Given the description of an element on the screen output the (x, y) to click on. 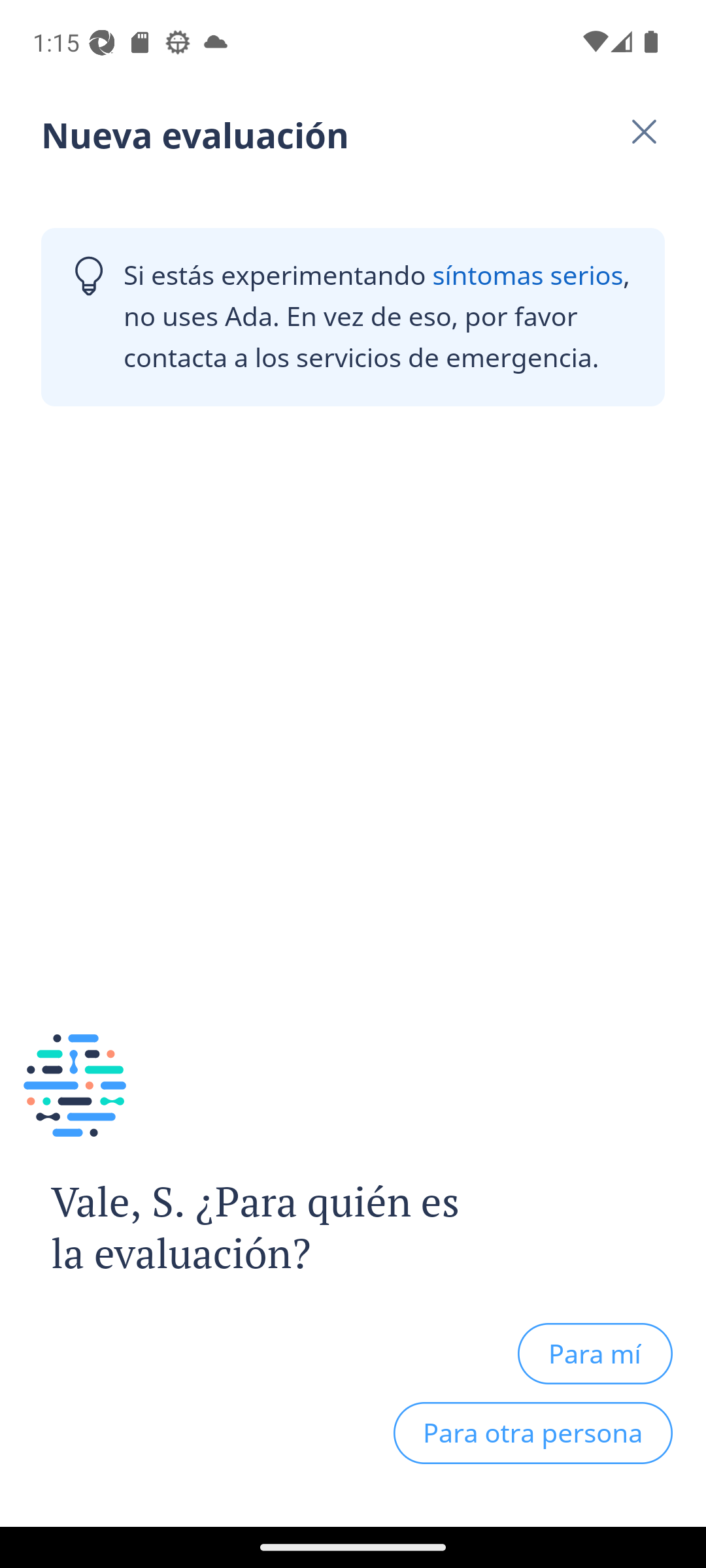
Vale, S. ¿Para quién es la evaluación? (240, 1227)
Para mí (594, 1352)
Para otra persona (532, 1432)
